Given the description of an element on the screen output the (x, y) to click on. 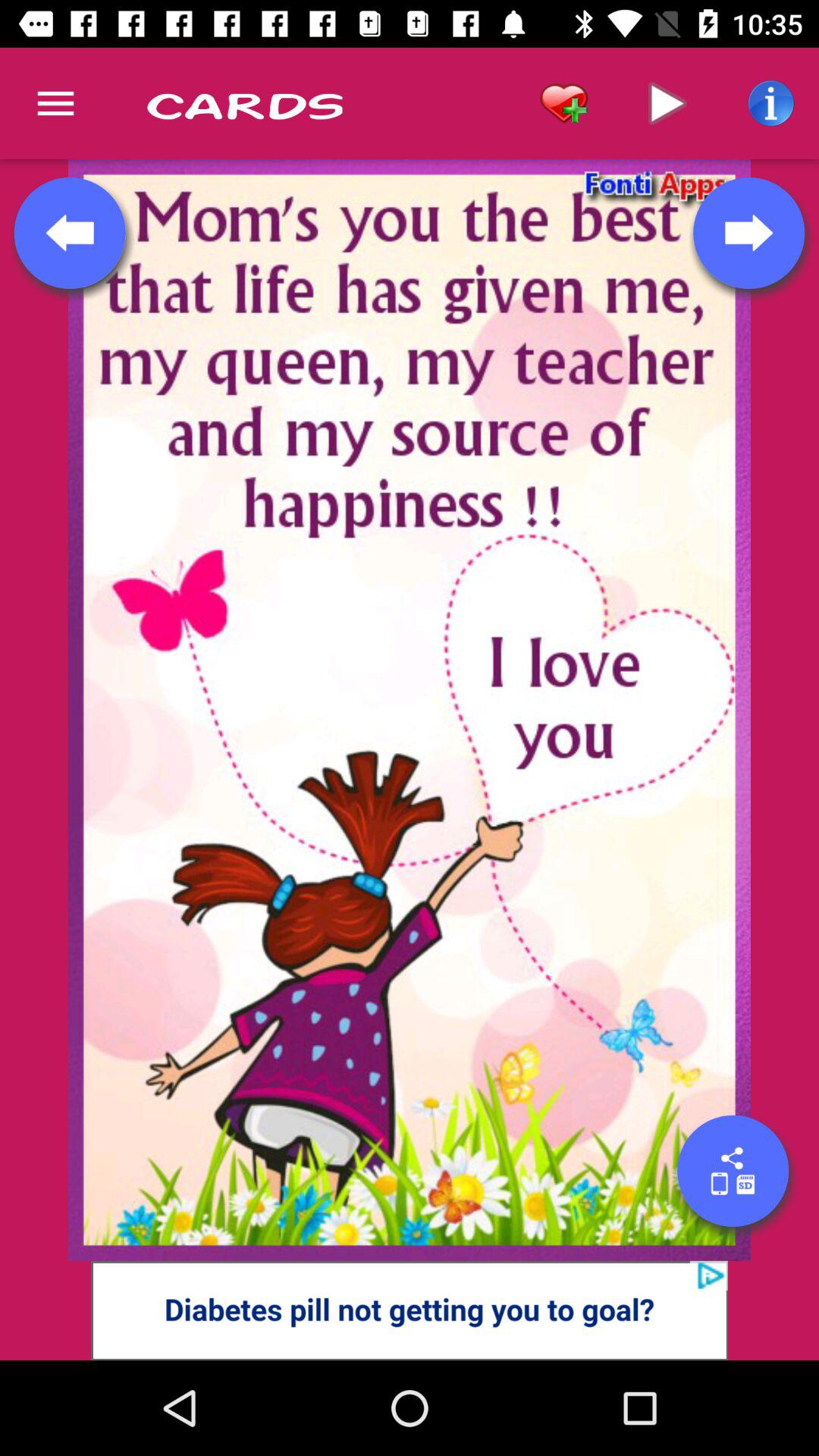
search (733, 1171)
